Given the description of an element on the screen output the (x, y) to click on. 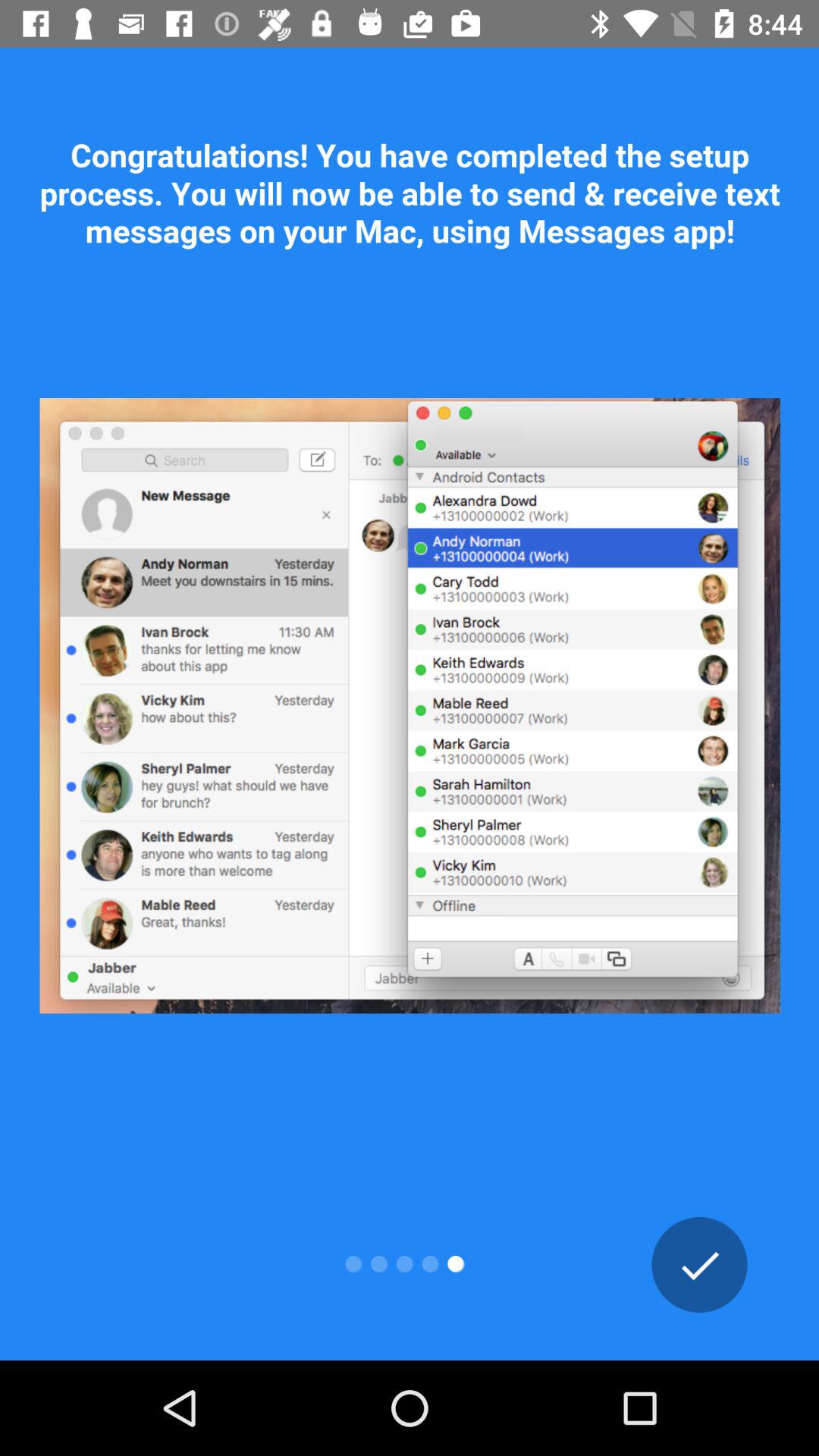
ok (699, 1264)
